Given the description of an element on the screen output the (x, y) to click on. 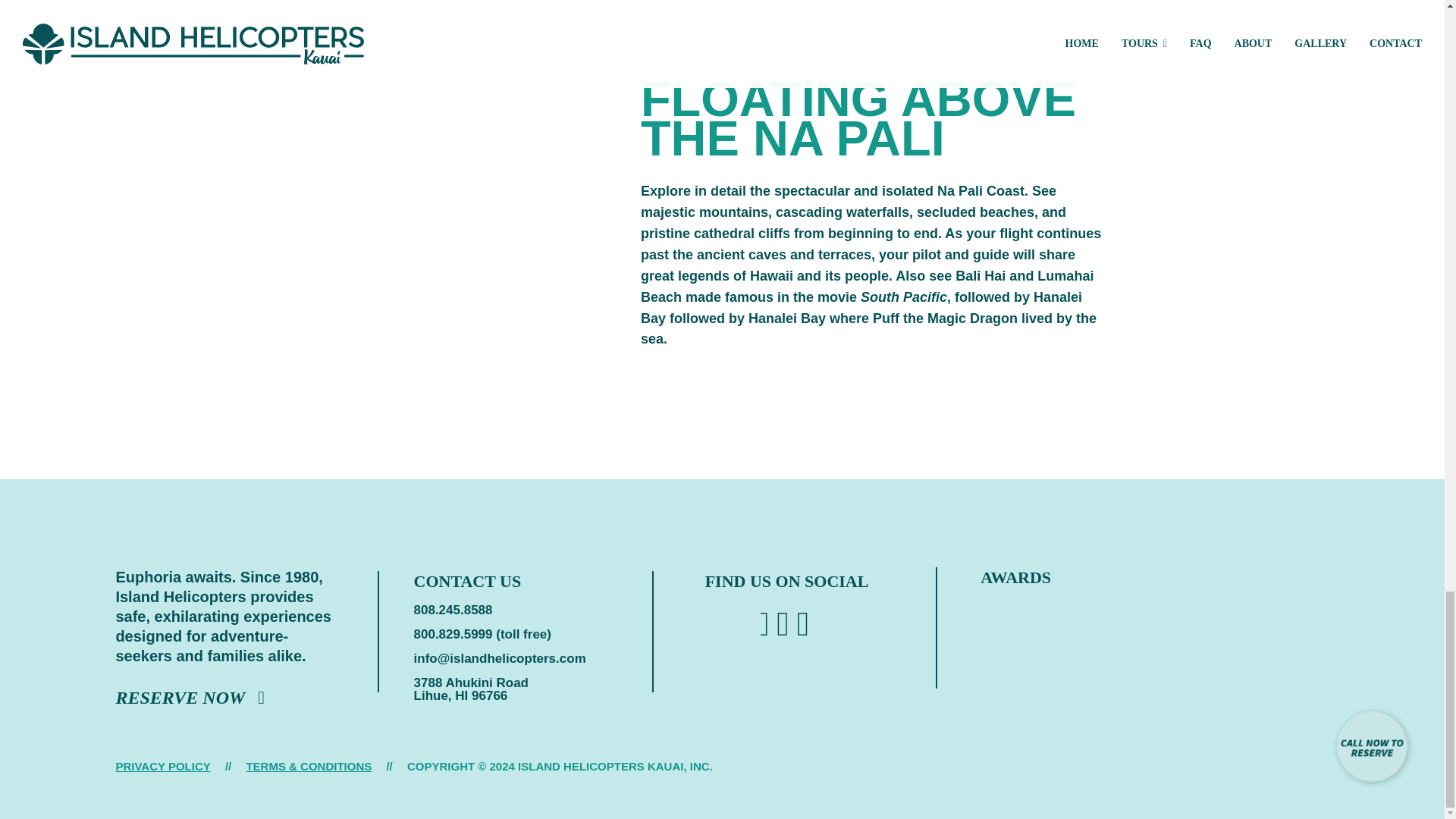
RESERVE NOW (189, 697)
YouTube video player 3 (418, 188)
3788 Ahukini Road Lihue, HI 96766 (475, 688)
Island Helicopters (228, 526)
PRIVACY POLICY (162, 766)
808.245.8588 (453, 609)
USA Today 10Best Award (1300, 634)
